Given the description of an element on the screen output the (x, y) to click on. 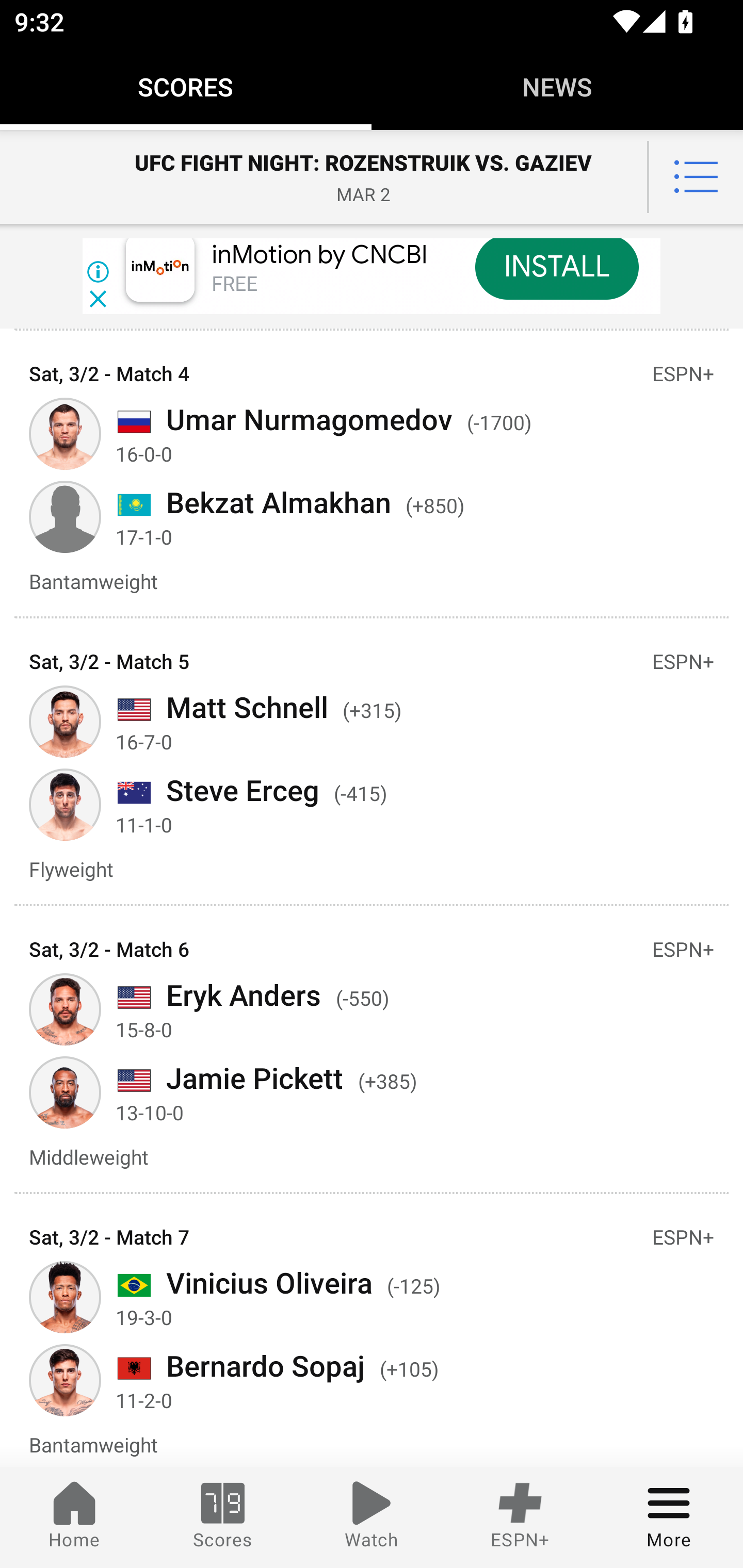
News NEWS (557, 86)
UFC FIGHT NIGHT: ROZENSTRUIK VS. GAZIEV MAR 2 ^ (371, 177)
inMotion by CNCBI (319, 255)
INSTALL (556, 268)
FREE (234, 284)
Home (74, 1517)
Scores (222, 1517)
Watch (371, 1517)
ESPN+ (519, 1517)
